Given the description of an element on the screen output the (x, y) to click on. 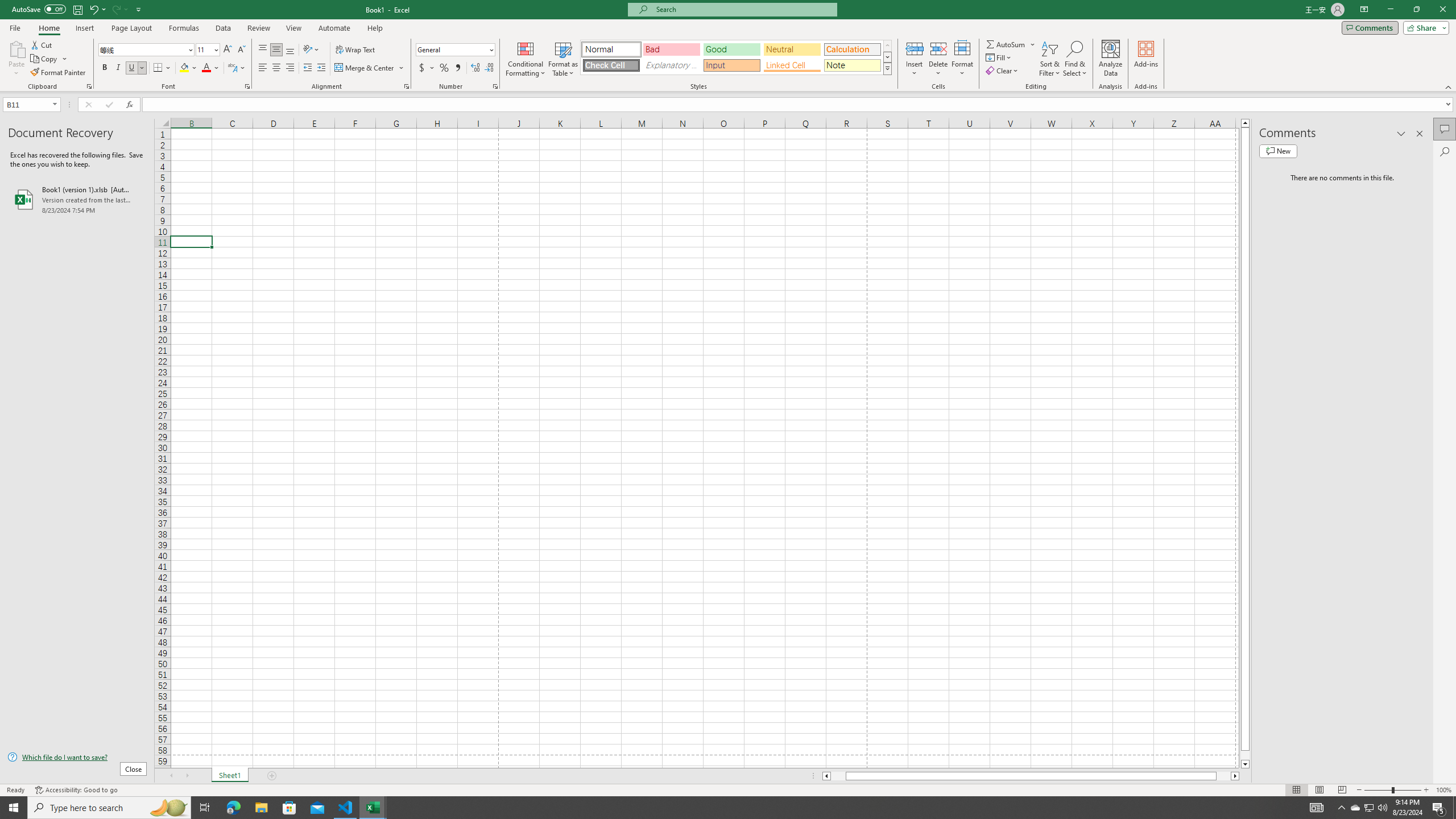
Paste (16, 58)
Comma Style (457, 67)
Number Format (451, 49)
Font Size (204, 49)
Bold (104, 67)
Good (731, 49)
Borders (162, 67)
